Given the description of an element on the screen output the (x, y) to click on. 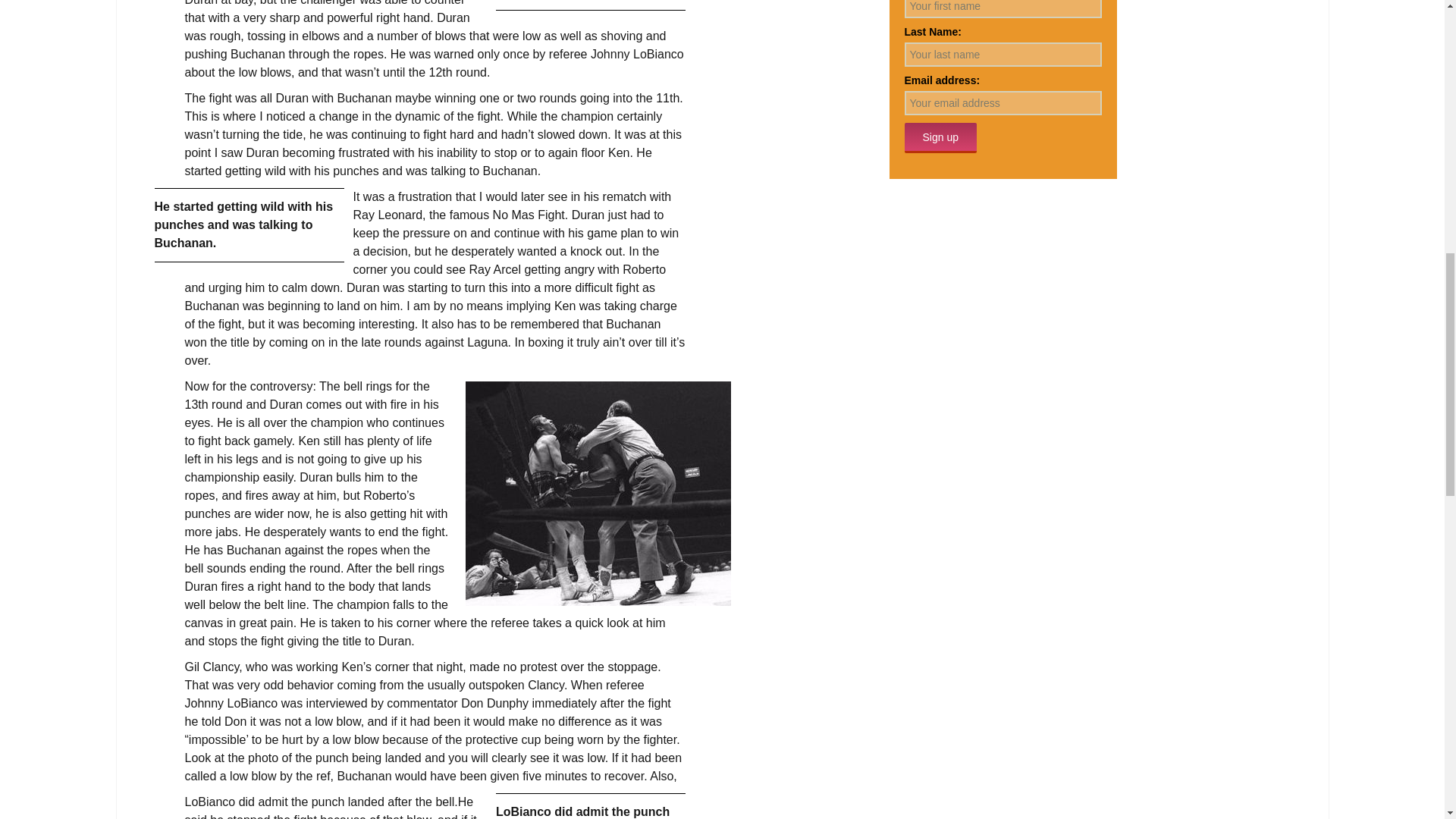
Sign up (939, 137)
Sign up (939, 137)
